Given the description of an element on the screen output the (x, y) to click on. 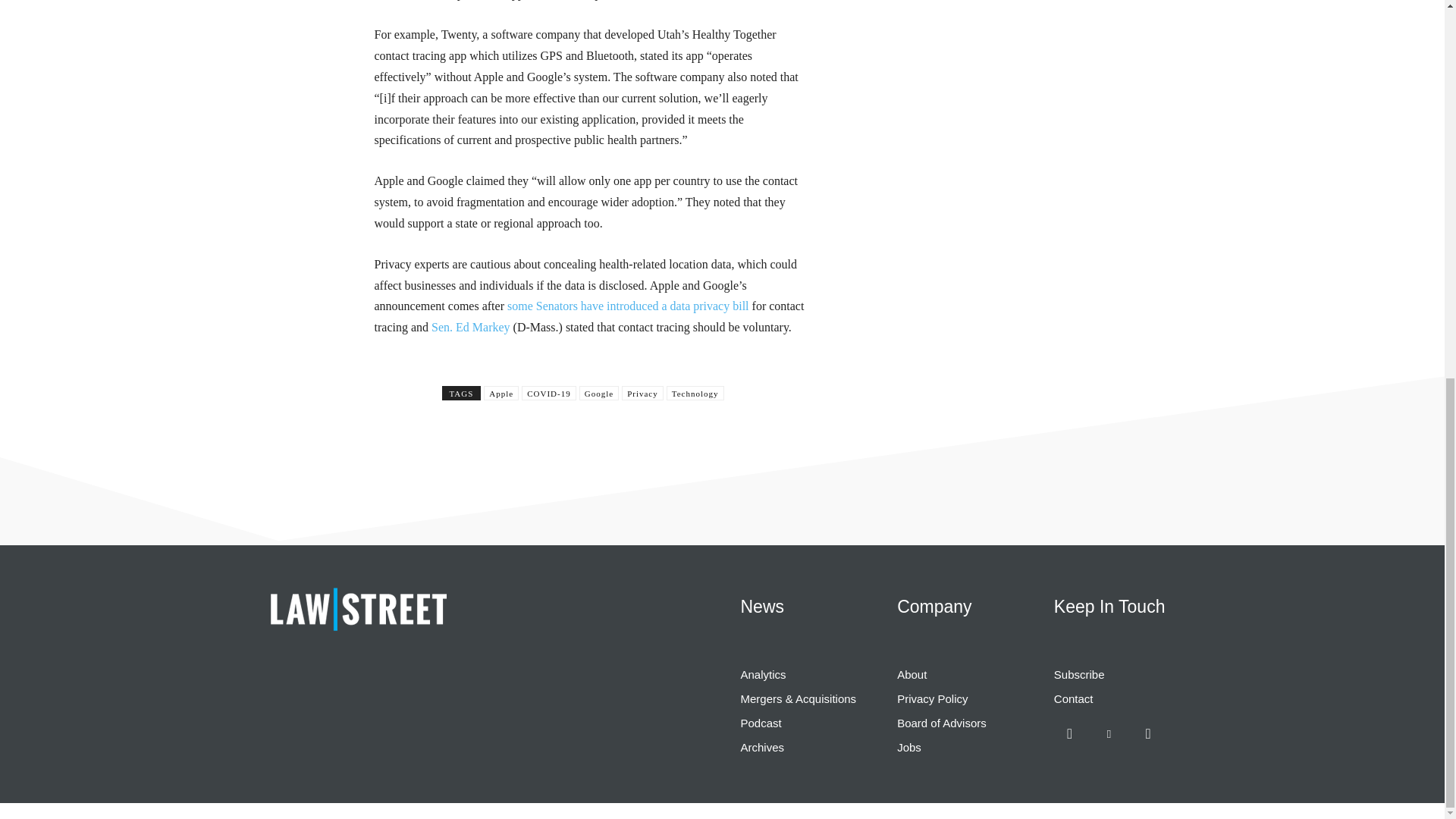
some Senators have introduced a data privacy bill (627, 305)
Sen. Ed Markey (470, 327)
Linkedin (1109, 734)
Apple (500, 392)
Facebook (1070, 734)
LawStreetMediaLogo (357, 608)
